Given the description of an element on the screen output the (x, y) to click on. 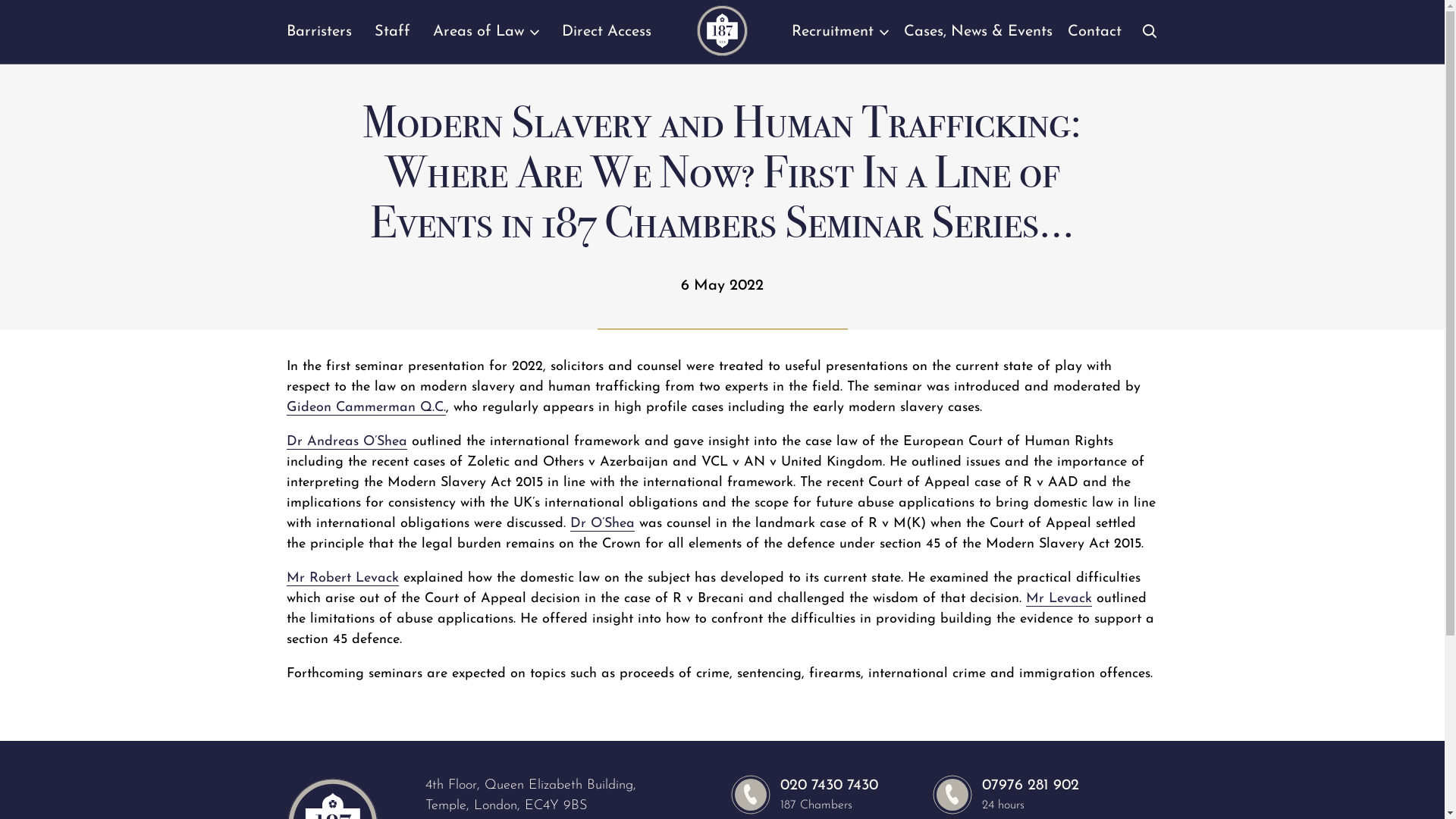
Cases, News & Events Element type: text (977, 39)
020 7430 7430
187 Chambers Element type: text (804, 795)
07976 281 902
24 hours Element type: text (1005, 795)
Direct Access Element type: text (605, 39)
Mr Robert Levack Element type: text (342, 578)
Areas of Law Element type: text (485, 39)
Staff Element type: text (392, 39)
Gideon Cammerman Q.C. Element type: text (365, 407)
Contact Element type: text (1094, 39)
Mr Levack Element type: text (1058, 598)
Recruitment Element type: text (839, 39)
Barristers Element type: text (318, 39)
